Given the description of an element on the screen output the (x, y) to click on. 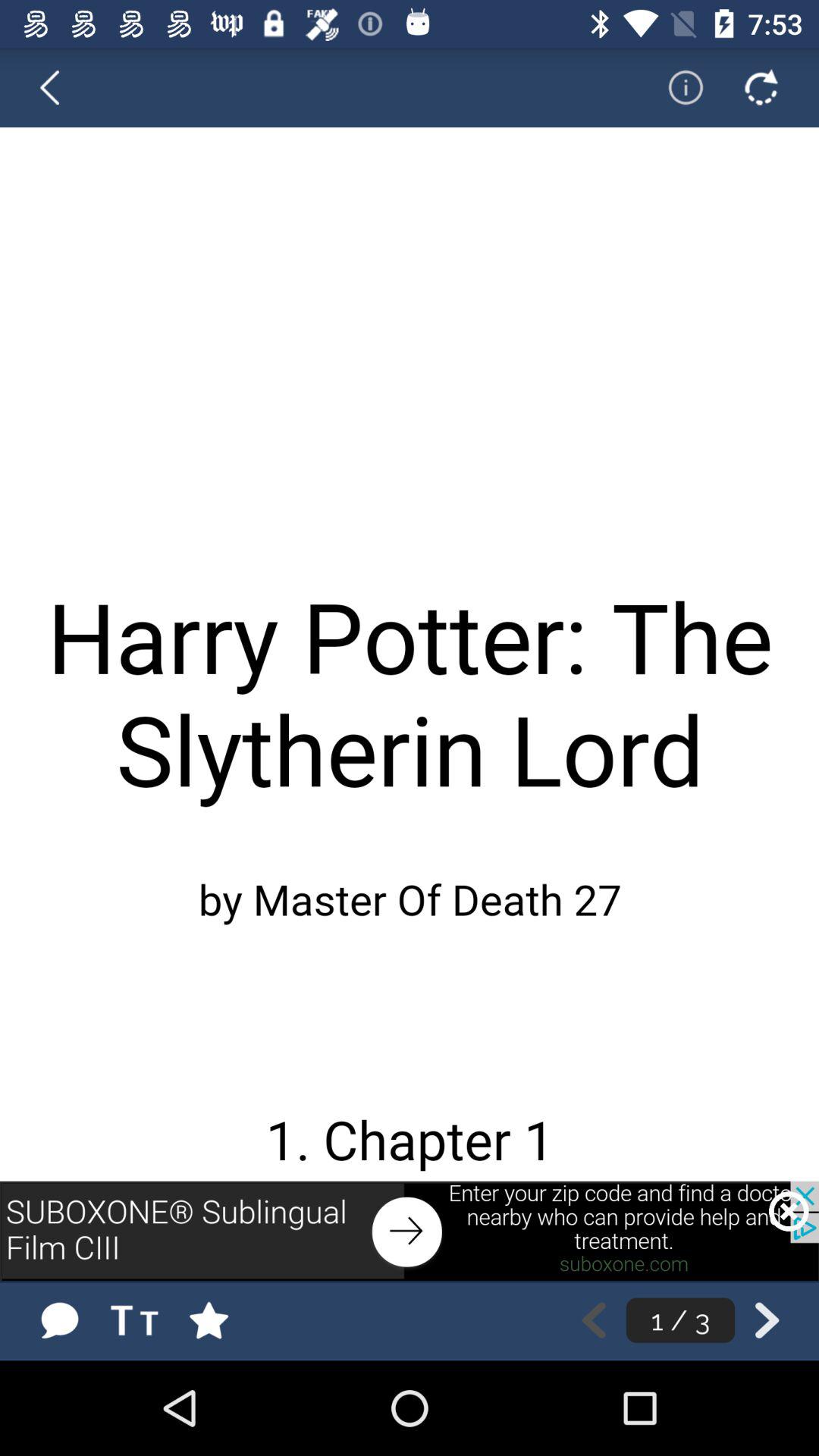
add to favourite list (224, 1320)
